Given the description of an element on the screen output the (x, y) to click on. 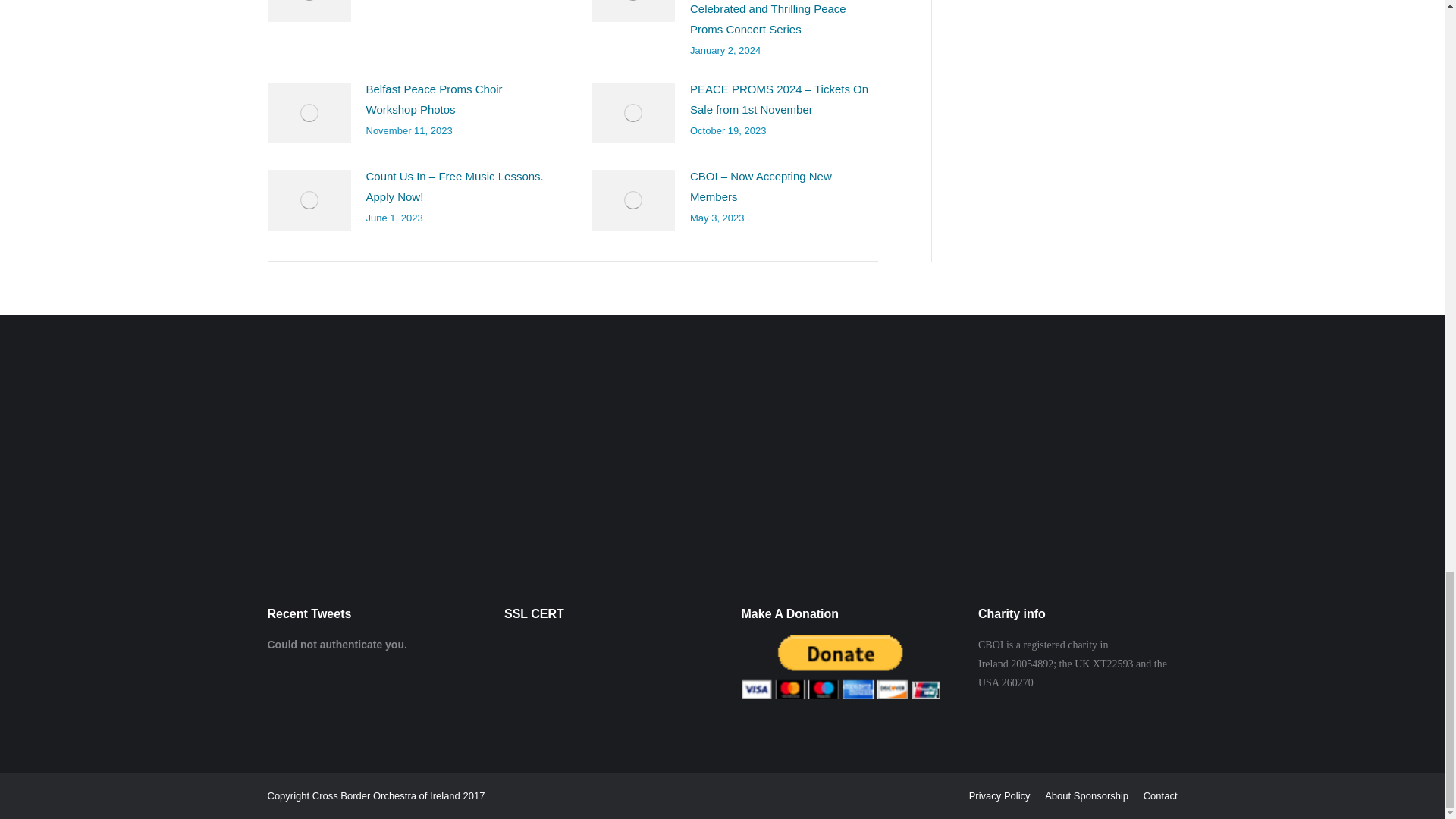
PayPal - The safer, easier way to pay online! (840, 667)
